Given the description of an element on the screen output the (x, y) to click on. 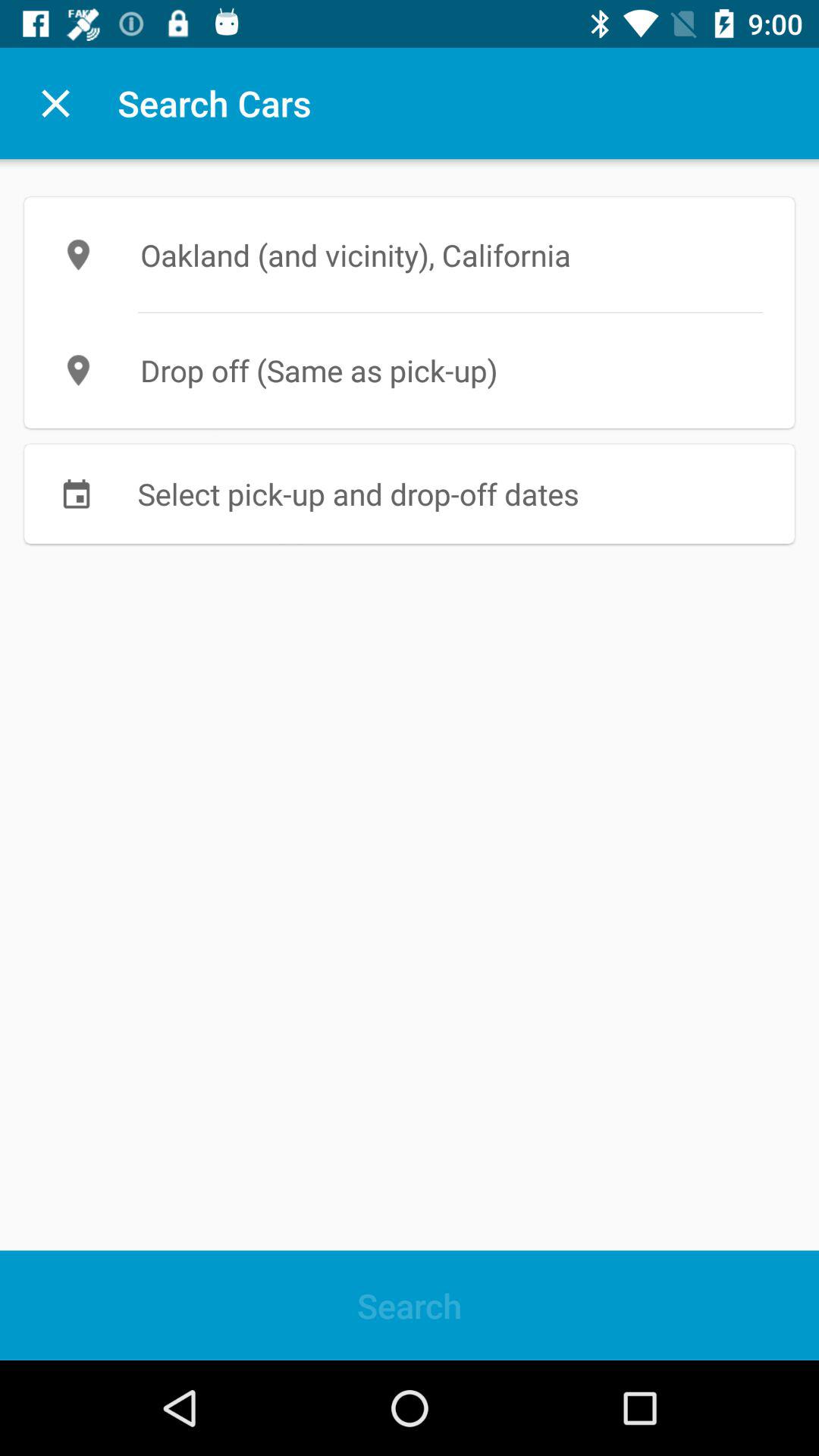
swipe to oakland and vicinity (409, 254)
